Given the description of an element on the screen output the (x, y) to click on. 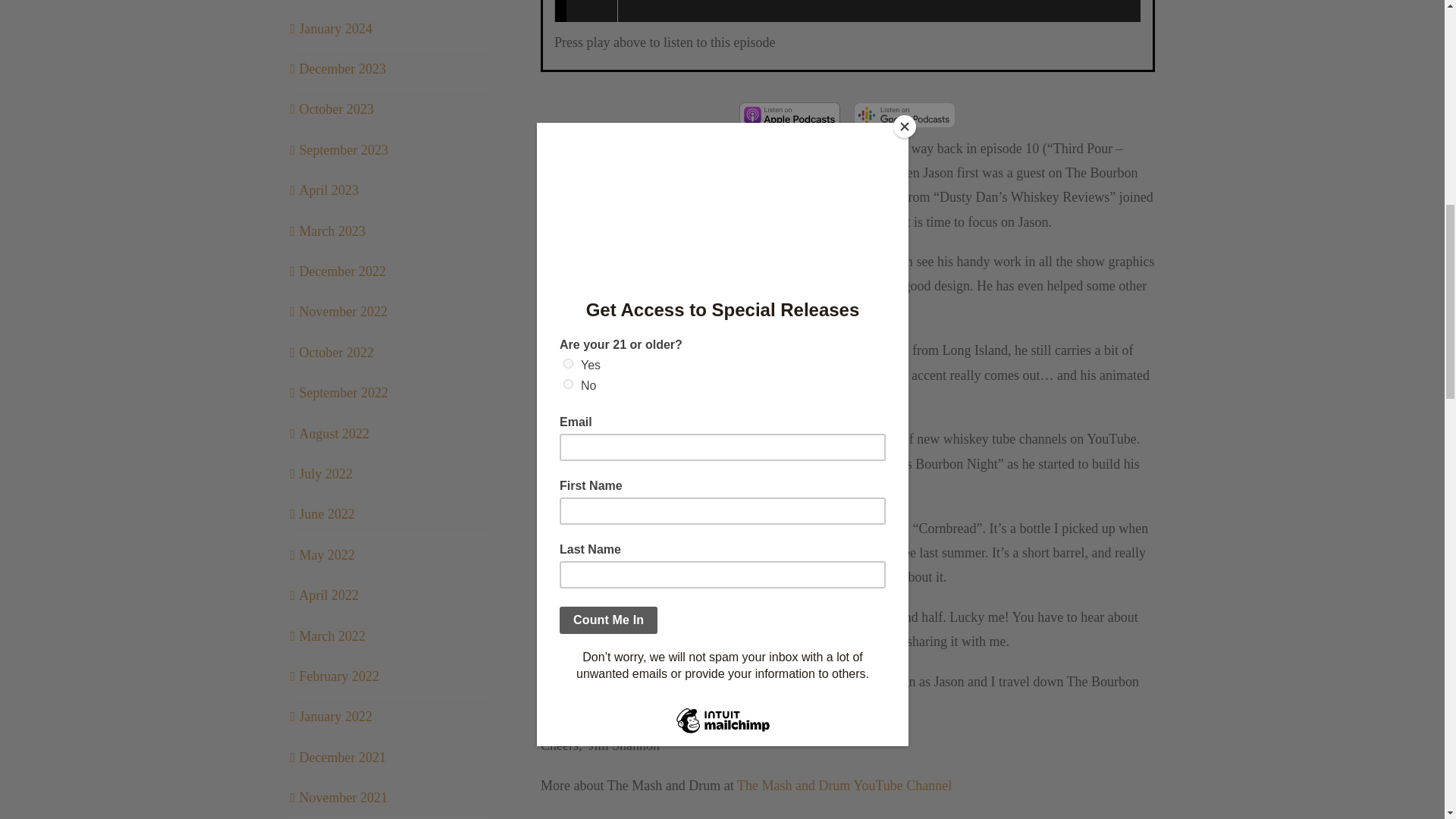
October 2023 (335, 109)
The Mash and Drum YouTube Channel (844, 785)
January 2024 (334, 28)
December 2023 (341, 68)
